Given the description of an element on the screen output the (x, y) to click on. 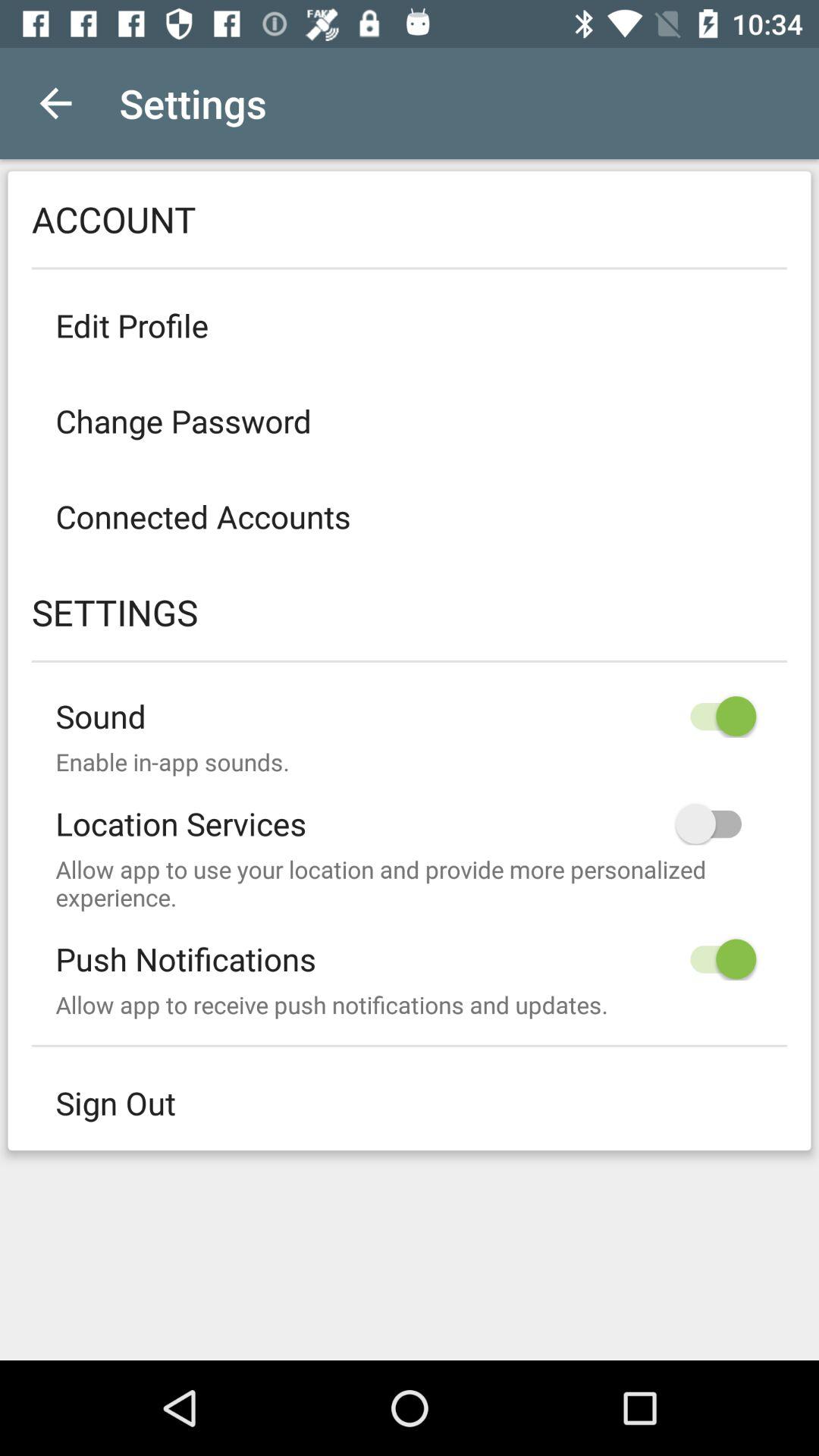
select the item next to the settings (55, 103)
